Given the description of an element on the screen output the (x, y) to click on. 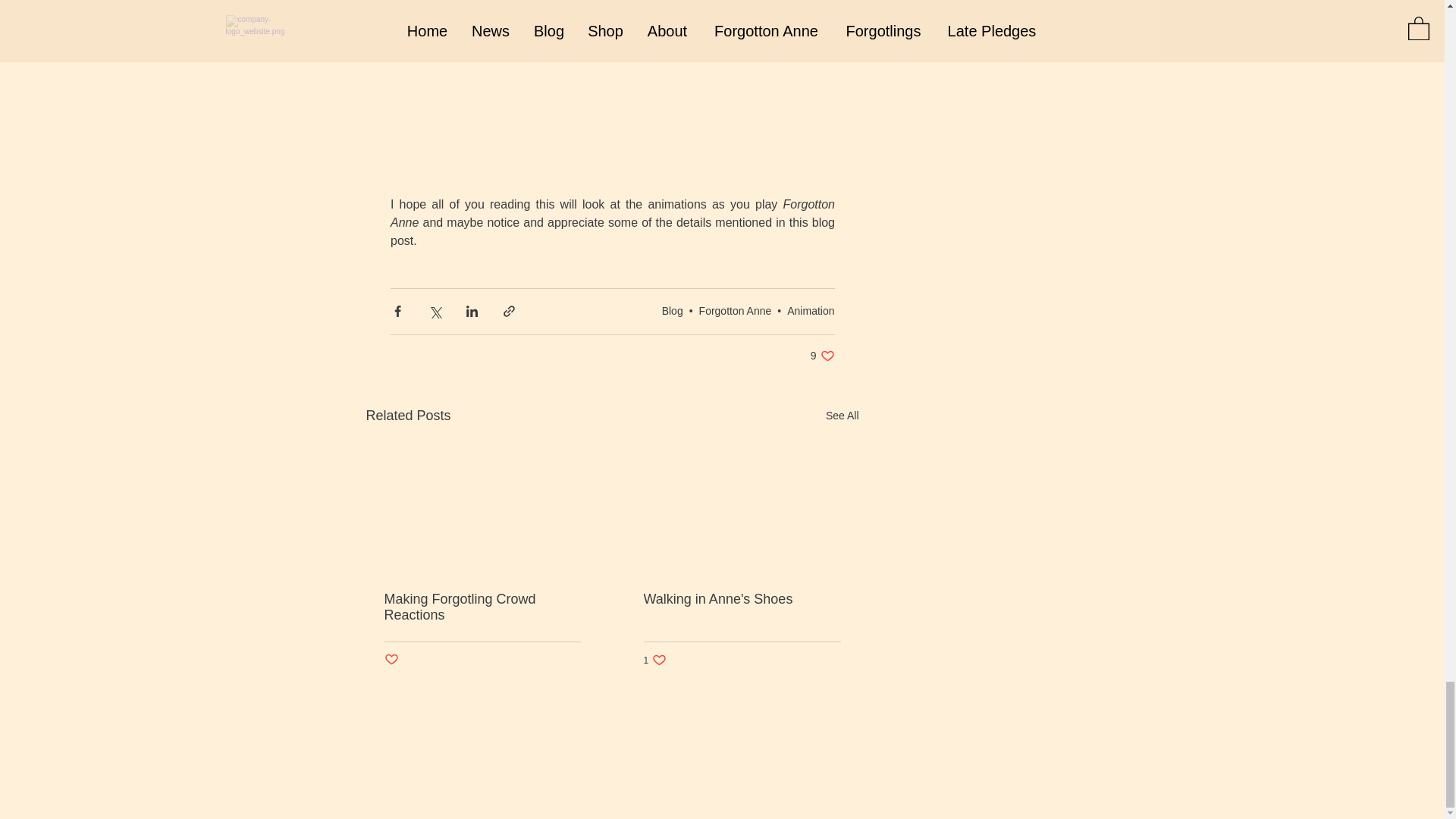
Walking in Anne's Shoes (741, 599)
Blog (672, 310)
Forgotton Anne (734, 310)
See All (654, 659)
Post not marked as liked (822, 355)
Making Forgotling Crowd Reactions (842, 415)
Animation (390, 659)
